Given the description of an element on the screen output the (x, y) to click on. 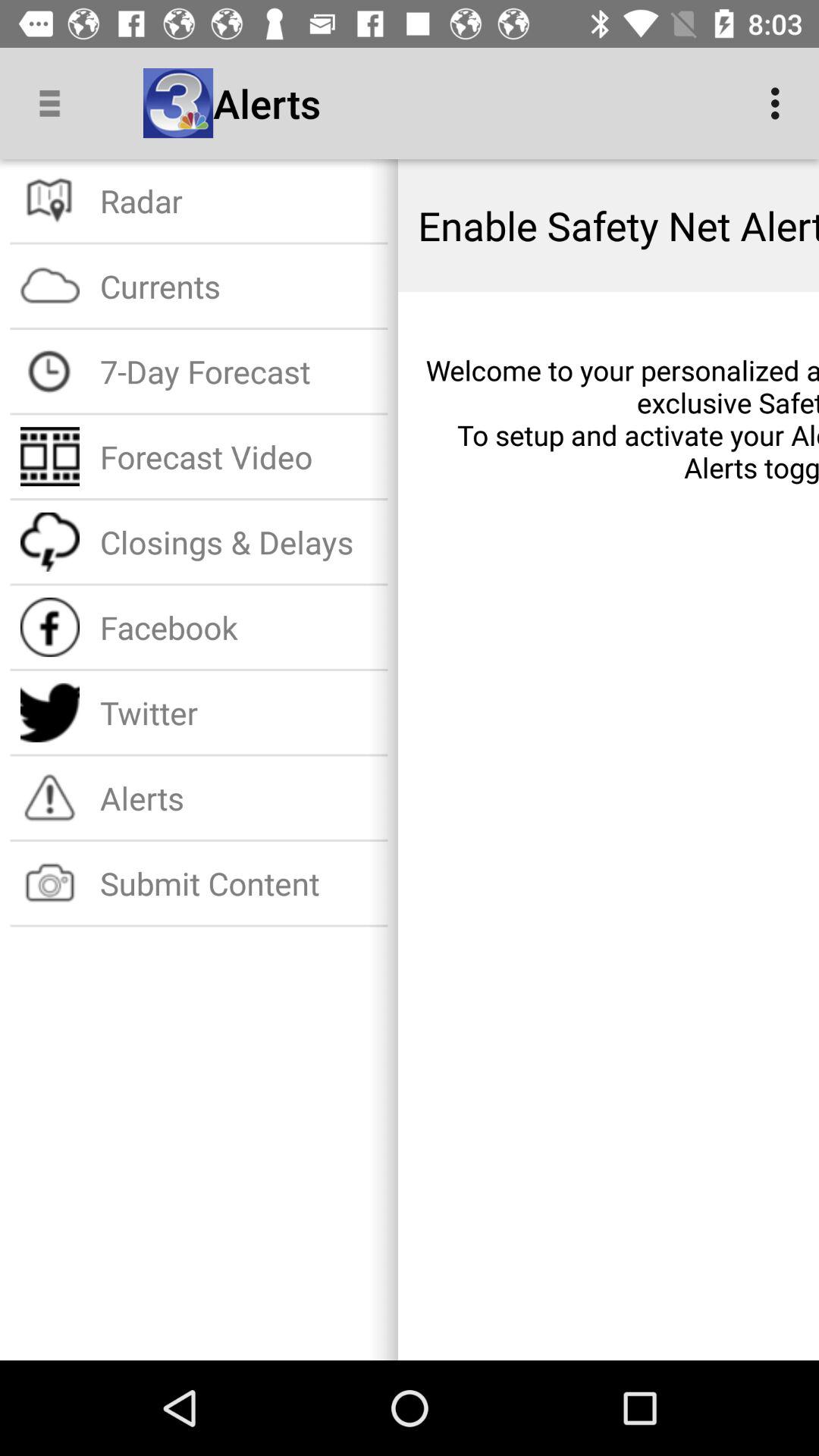
jump to facebook icon (238, 626)
